Given the description of an element on the screen output the (x, y) to click on. 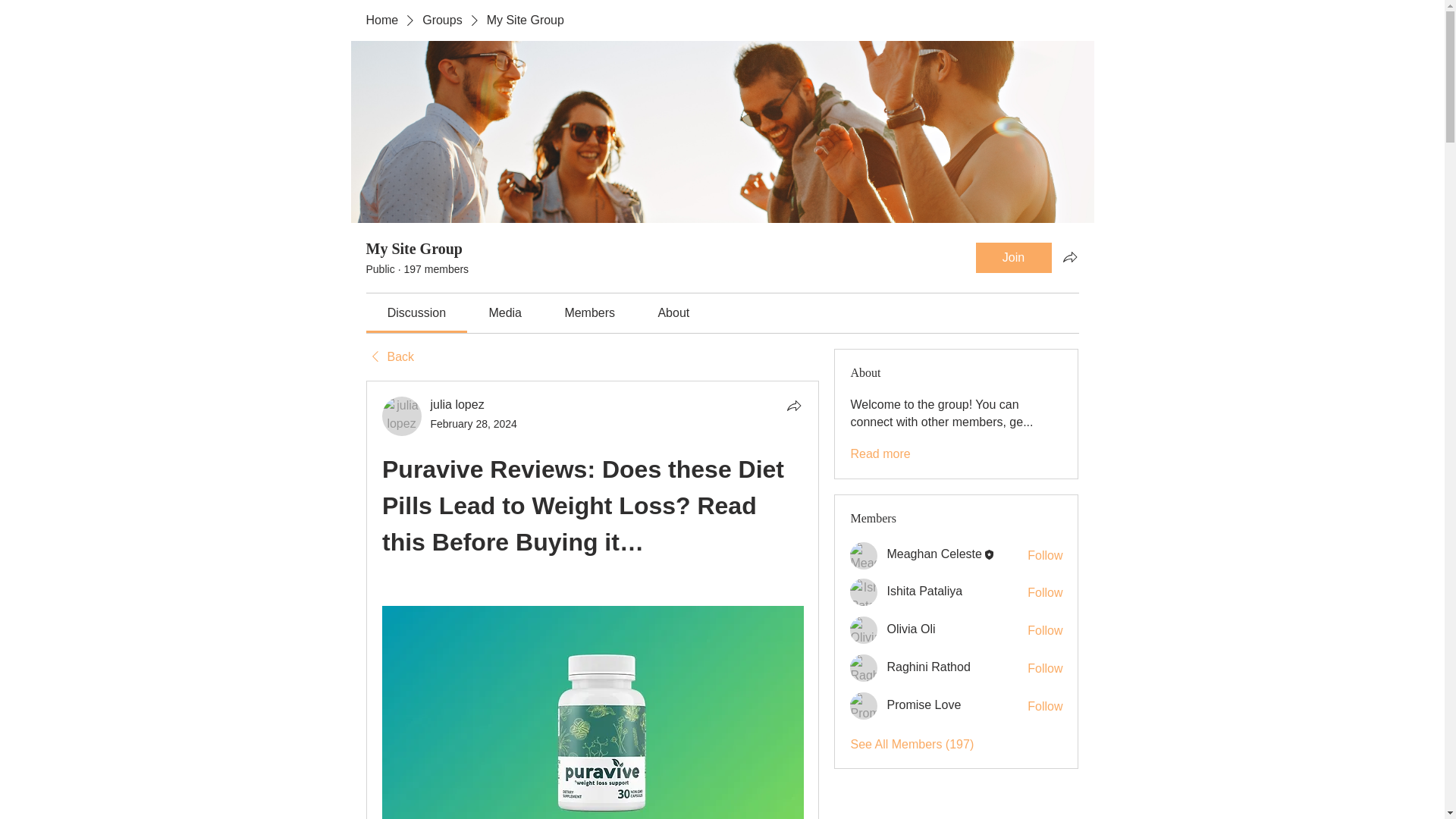
Back (389, 356)
Home (381, 20)
julia lopez (401, 415)
February 28, 2024 (473, 423)
Groups (441, 20)
Olivia Oli (863, 629)
Promise Love (863, 705)
julia lopez (457, 404)
Join (1013, 257)
Raghini Rathod (863, 667)
Meaghan Celeste (863, 555)
Ishita Pataliya (863, 592)
